Given the description of an element on the screen output the (x, y) to click on. 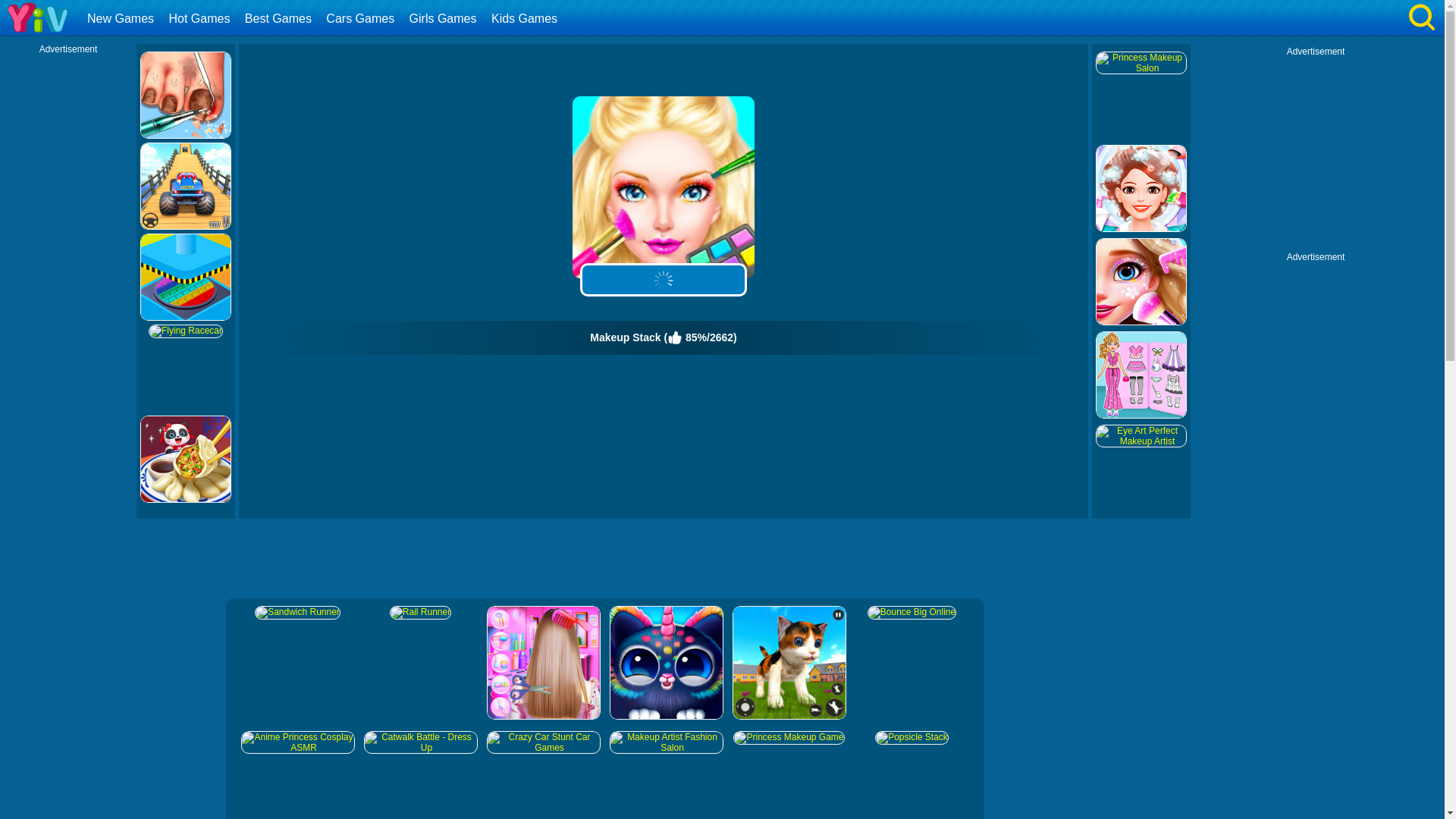
Hot Games (200, 18)
Best Games (279, 18)
Cars Games (361, 18)
New Games (121, 18)
Kids Games (525, 18)
Girls Games (445, 18)
